Given the description of an element on the screen output the (x, y) to click on. 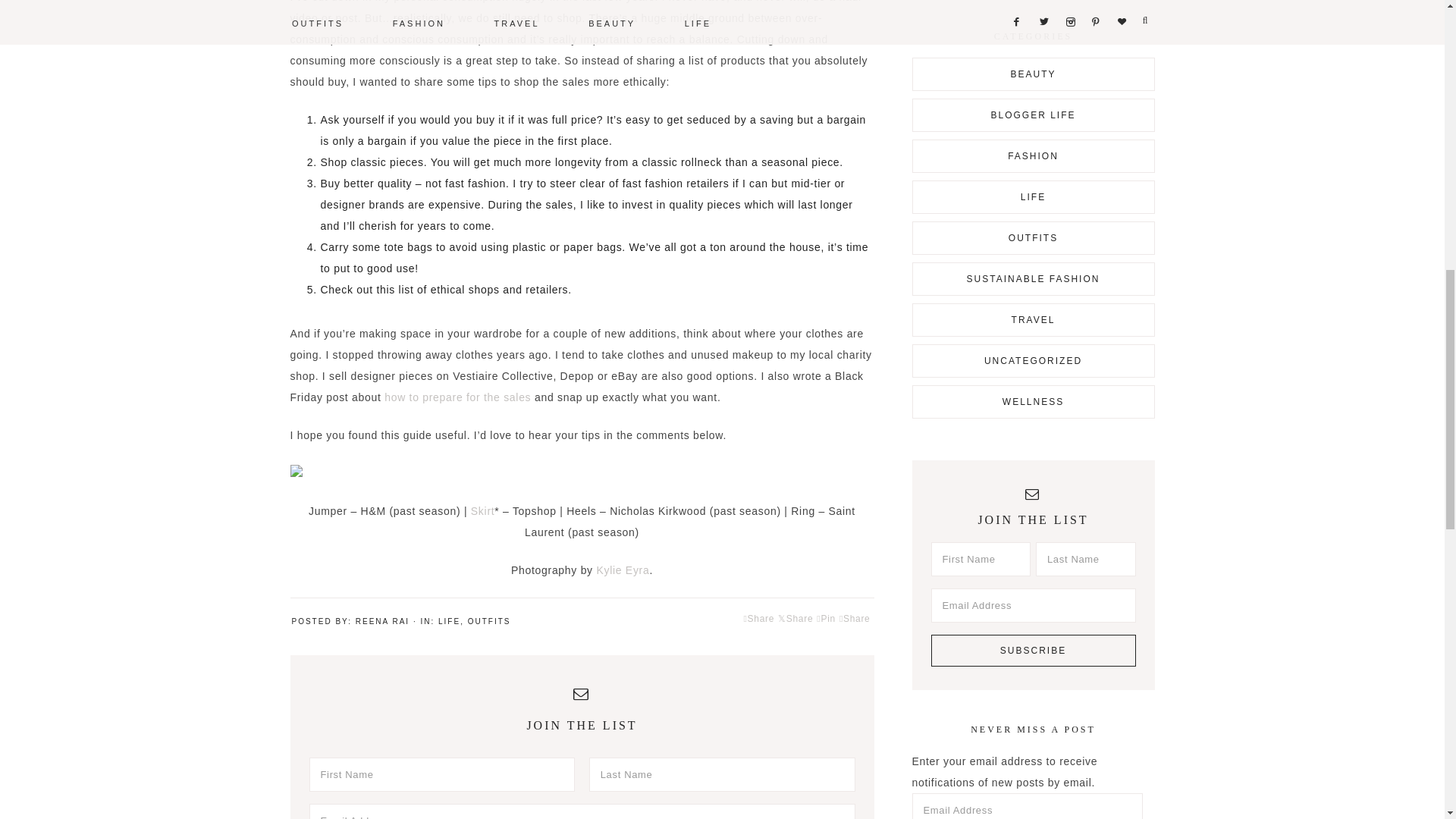
Skirt (482, 510)
Share (855, 618)
Share (758, 618)
Subscribe (1033, 650)
how to prepare for the sales (457, 397)
OUTFITS (489, 621)
Share (794, 618)
REENA RAI (382, 621)
Kylie Eyra (622, 570)
Pin (825, 618)
LIFE (449, 621)
